Given the description of an element on the screen output the (x, y) to click on. 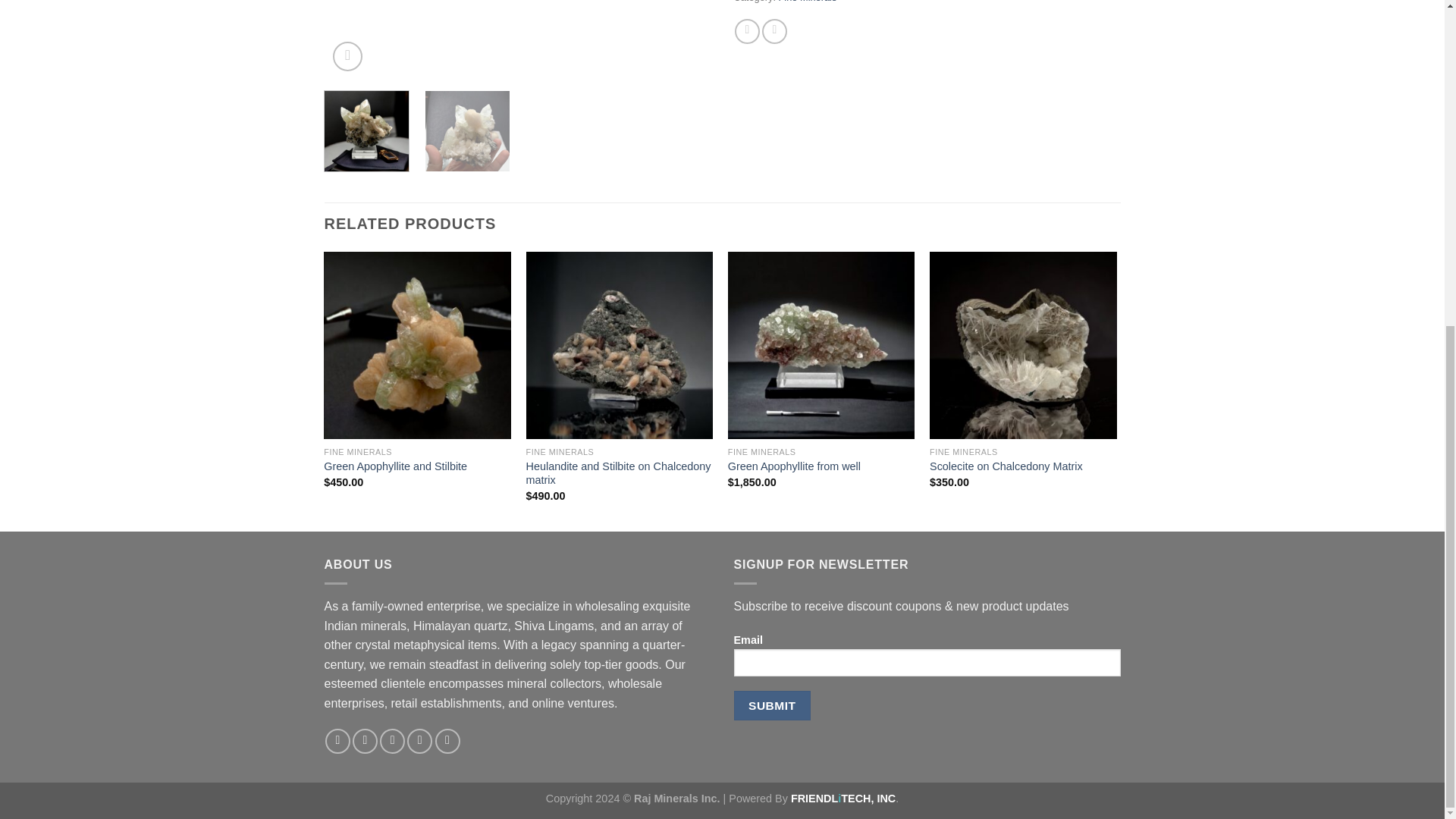
Fine Minerals (807, 1)
Email to a Friend (774, 31)
Submit (771, 705)
Follow on Instagram (364, 740)
Zoom (347, 56)
Follow on Facebook (337, 740)
Share on Facebook (747, 31)
